Given the description of an element on the screen output the (x, y) to click on. 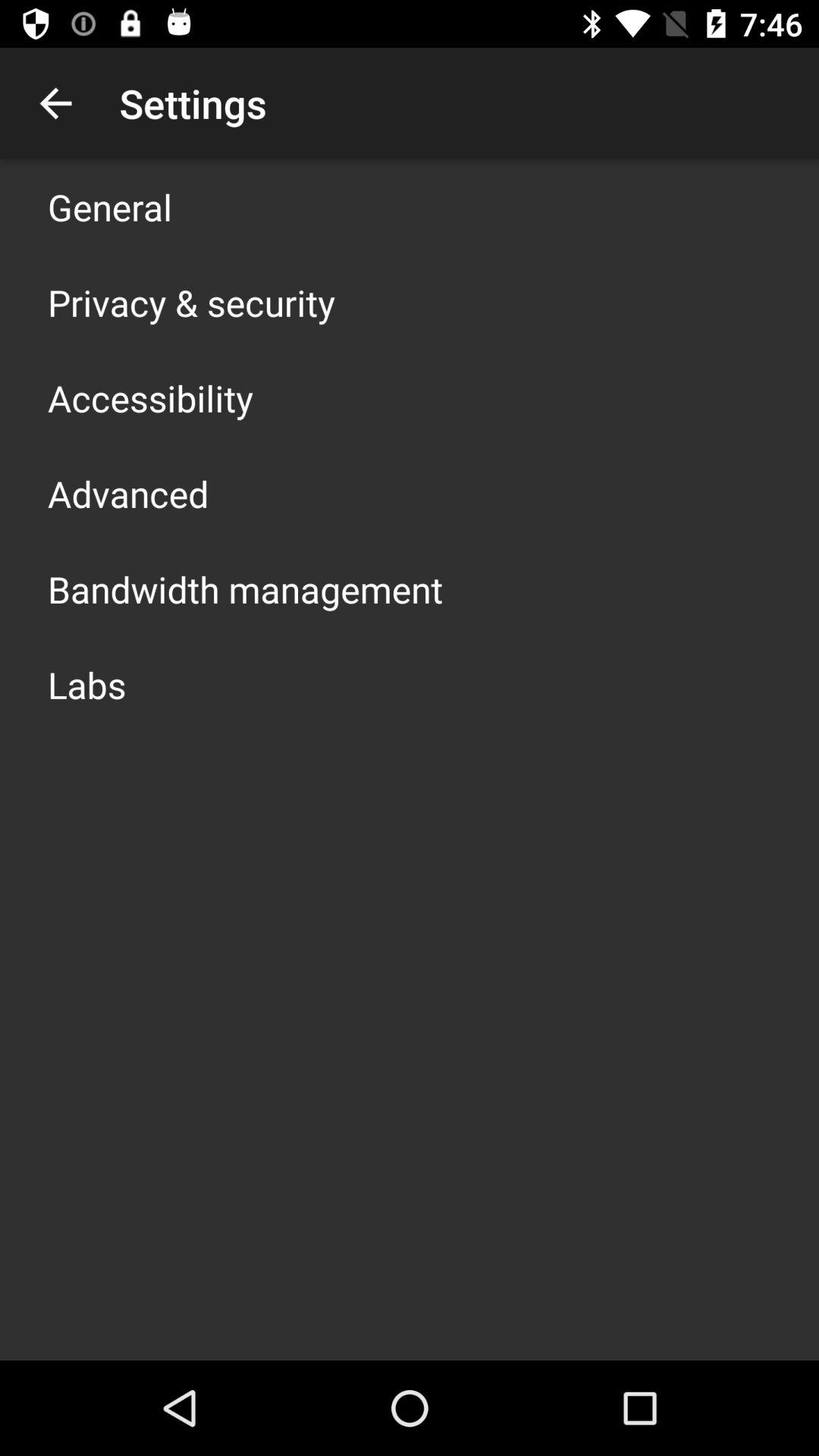
open general app (109, 206)
